Given the description of an element on the screen output the (x, y) to click on. 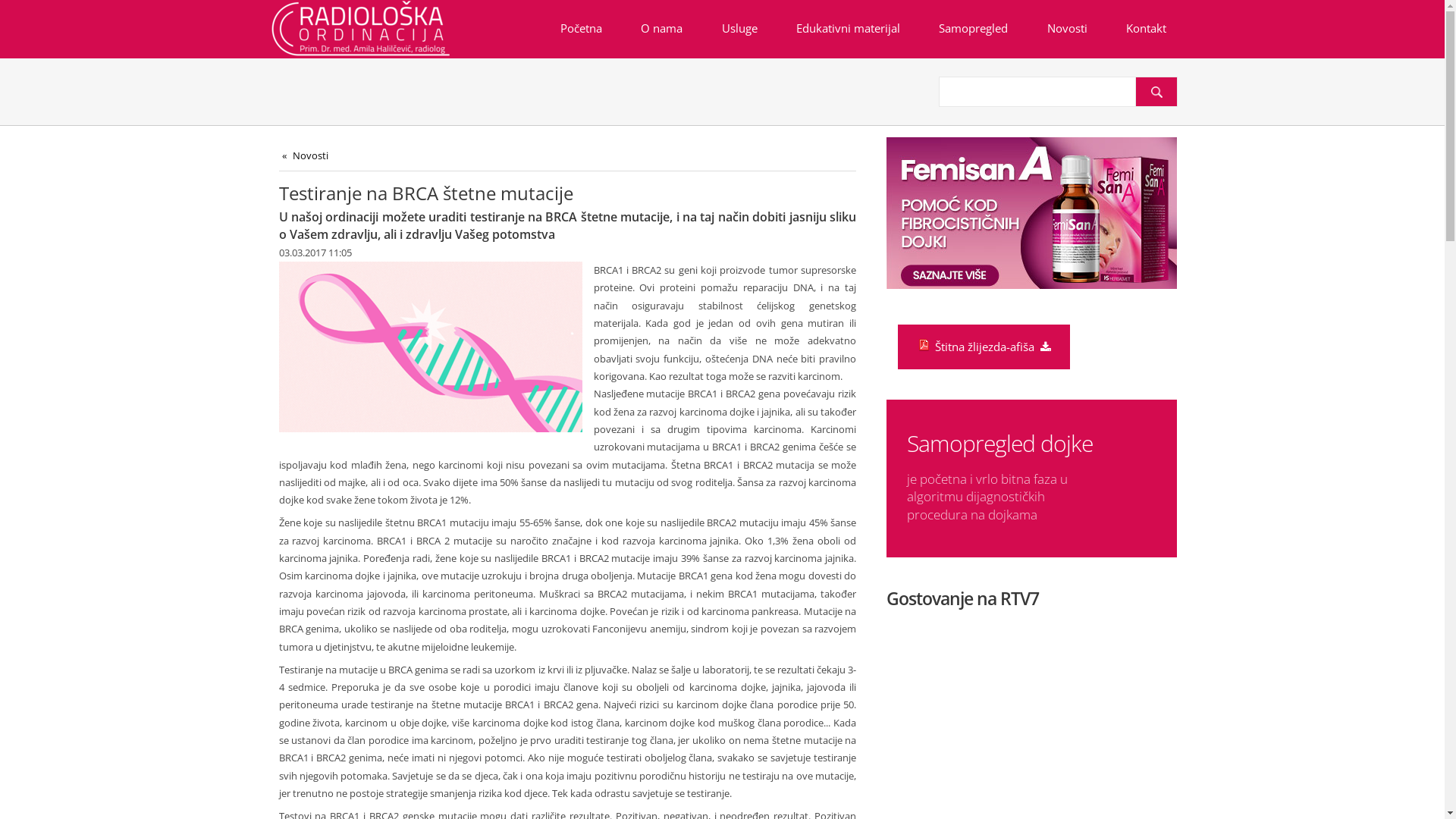
Edukativni materijal Element type: text (847, 28)
Novosti Element type: text (305, 155)
O nama Element type: text (661, 28)
Usluge Element type: text (739, 28)
Samopregled Element type: text (973, 28)
Novosti Element type: text (1066, 28)
Kontakt Element type: text (1145, 28)
Pretraga Element type: text (1155, 91)
